Given the description of an element on the screen output the (x, y) to click on. 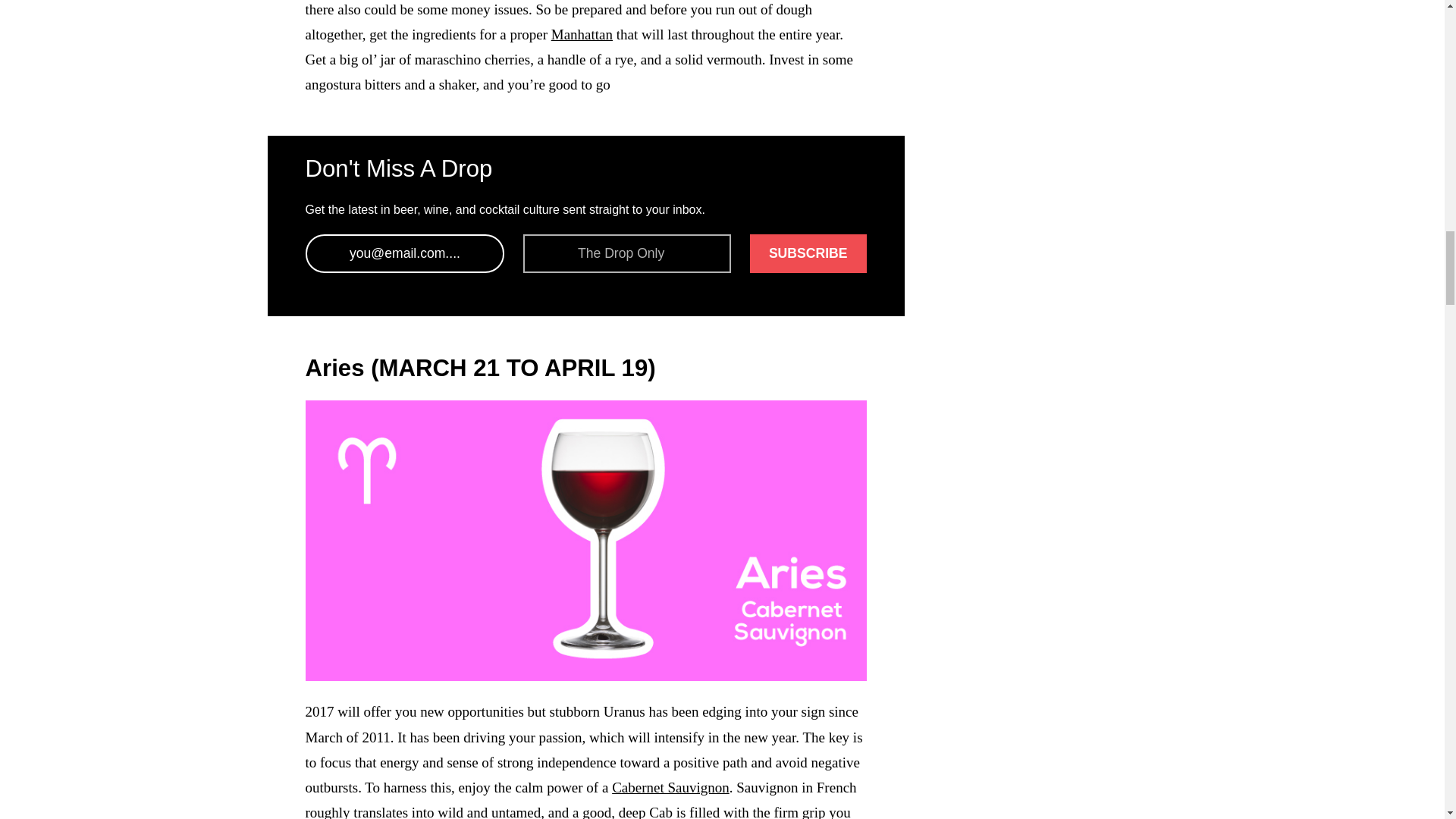
SUBSCRIBE (807, 253)
